Given the description of an element on the screen output the (x, y) to click on. 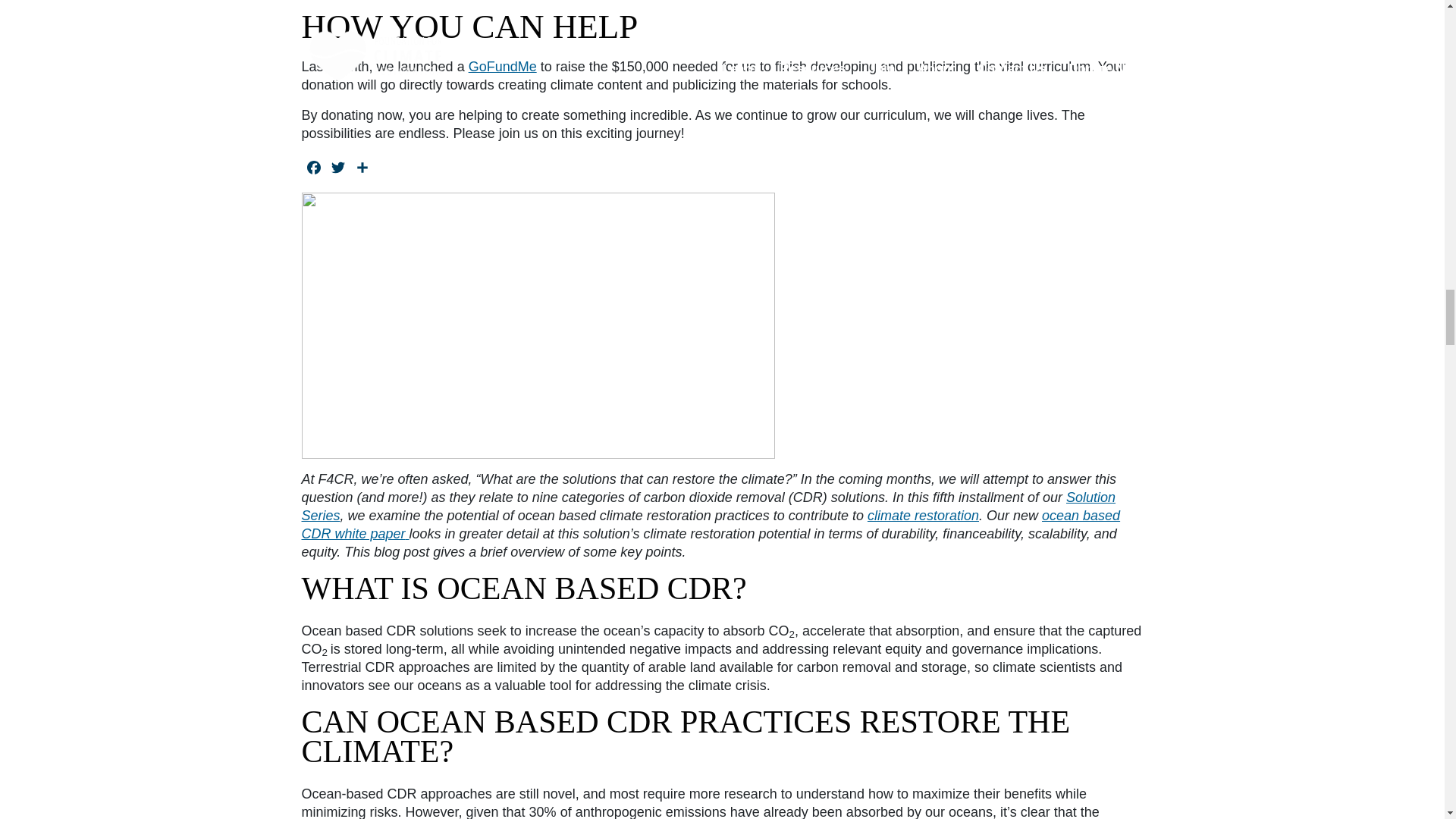
Solution Series (708, 506)
climate restoration (922, 515)
Facebook (313, 168)
ocean based CDR white paper (711, 524)
Twitter (338, 168)
GoFundMe (502, 66)
